Given the description of an element on the screen output the (x, y) to click on. 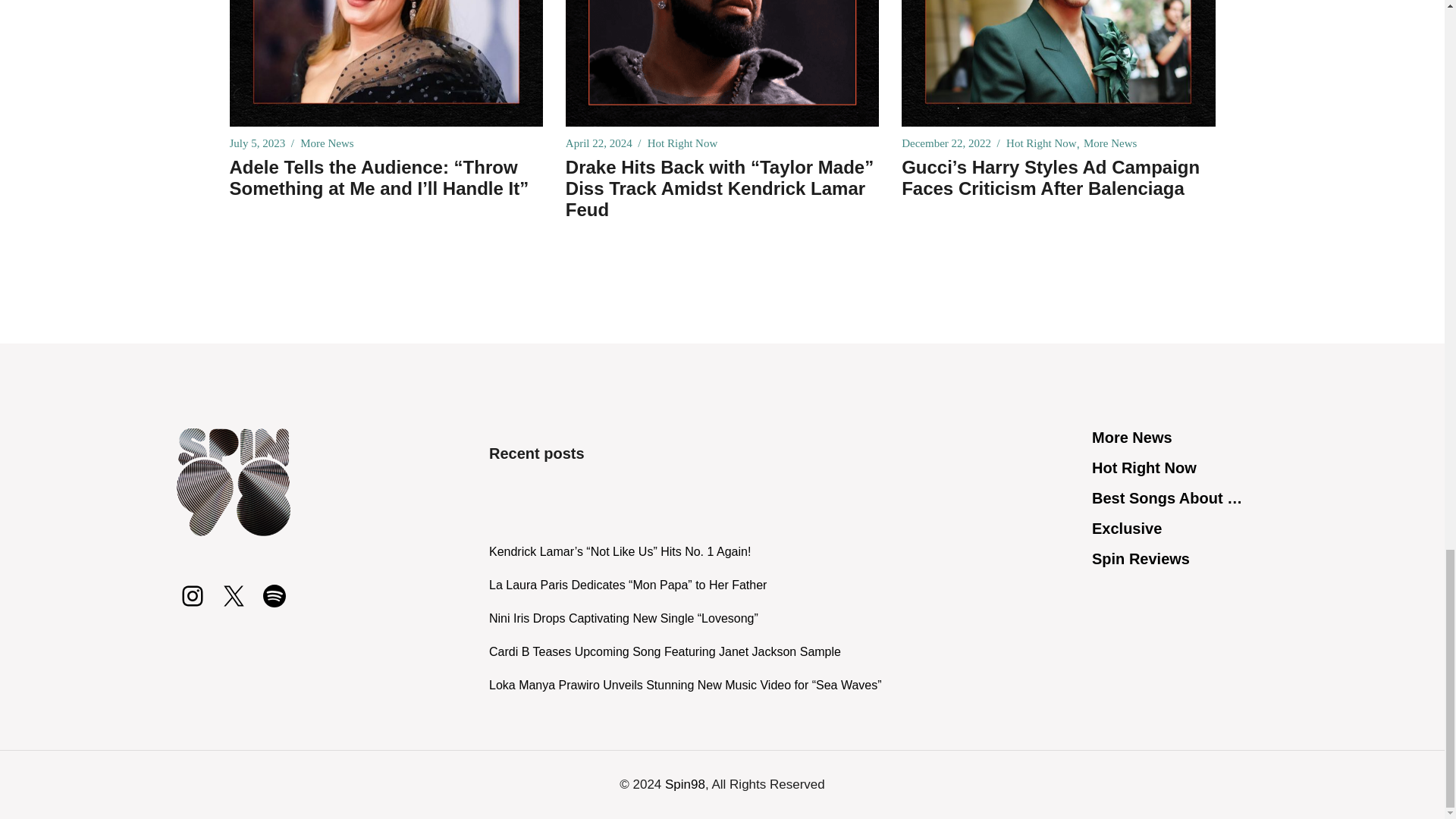
July 5, 2023 (256, 143)
